Given the description of an element on the screen output the (x, y) to click on. 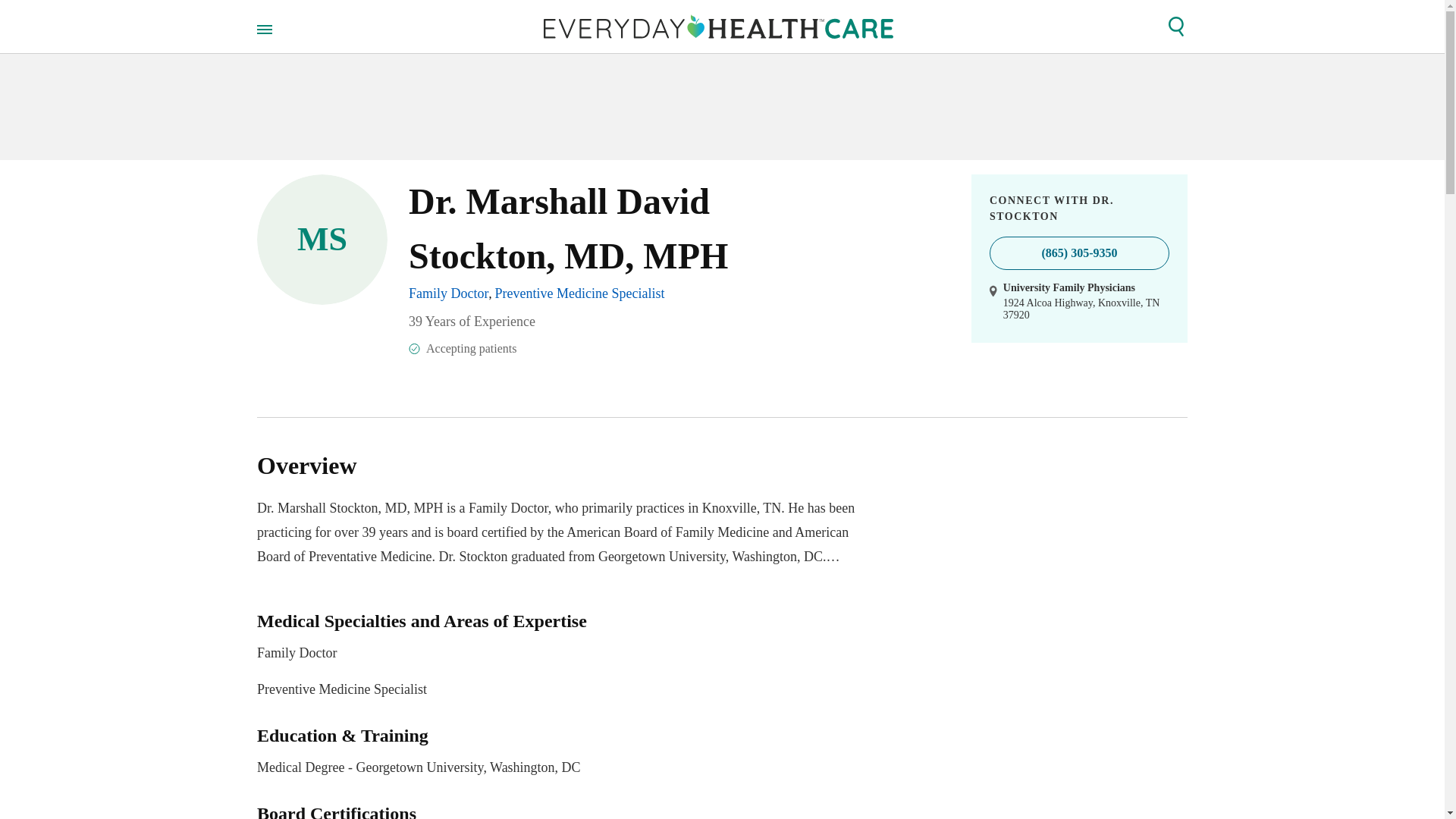
Preventive Medicine Specialist (579, 293)
Family Doctor (449, 293)
